Given the description of an element on the screen output the (x, y) to click on. 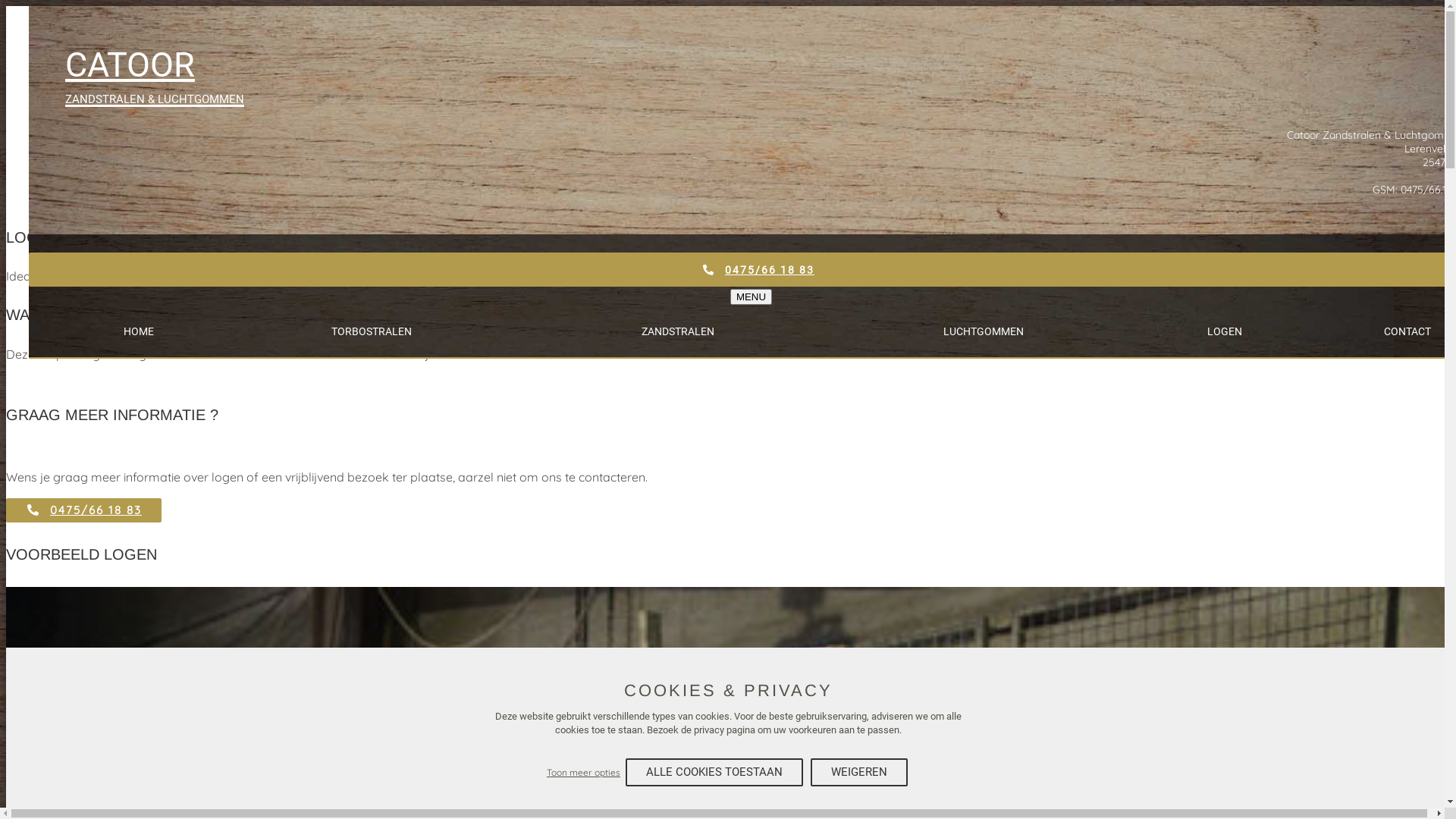
MENU Element type: text (750, 296)
Weigeren Element type: text (858, 772)
HOME Element type: text (138, 330)
LUCHTGOMMEN Element type: text (983, 330)
Alle cookies toestaan Element type: text (714, 772)
ZANDSTRALEN Element type: text (677, 330)
Toon meer opties Element type: text (583, 772)
0475/66 18 83 Element type: text (83, 510)
TORBOSTRALEN Element type: text (370, 330)
LOGEN Element type: text (1224, 330)
